Given the description of an element on the screen output the (x, y) to click on. 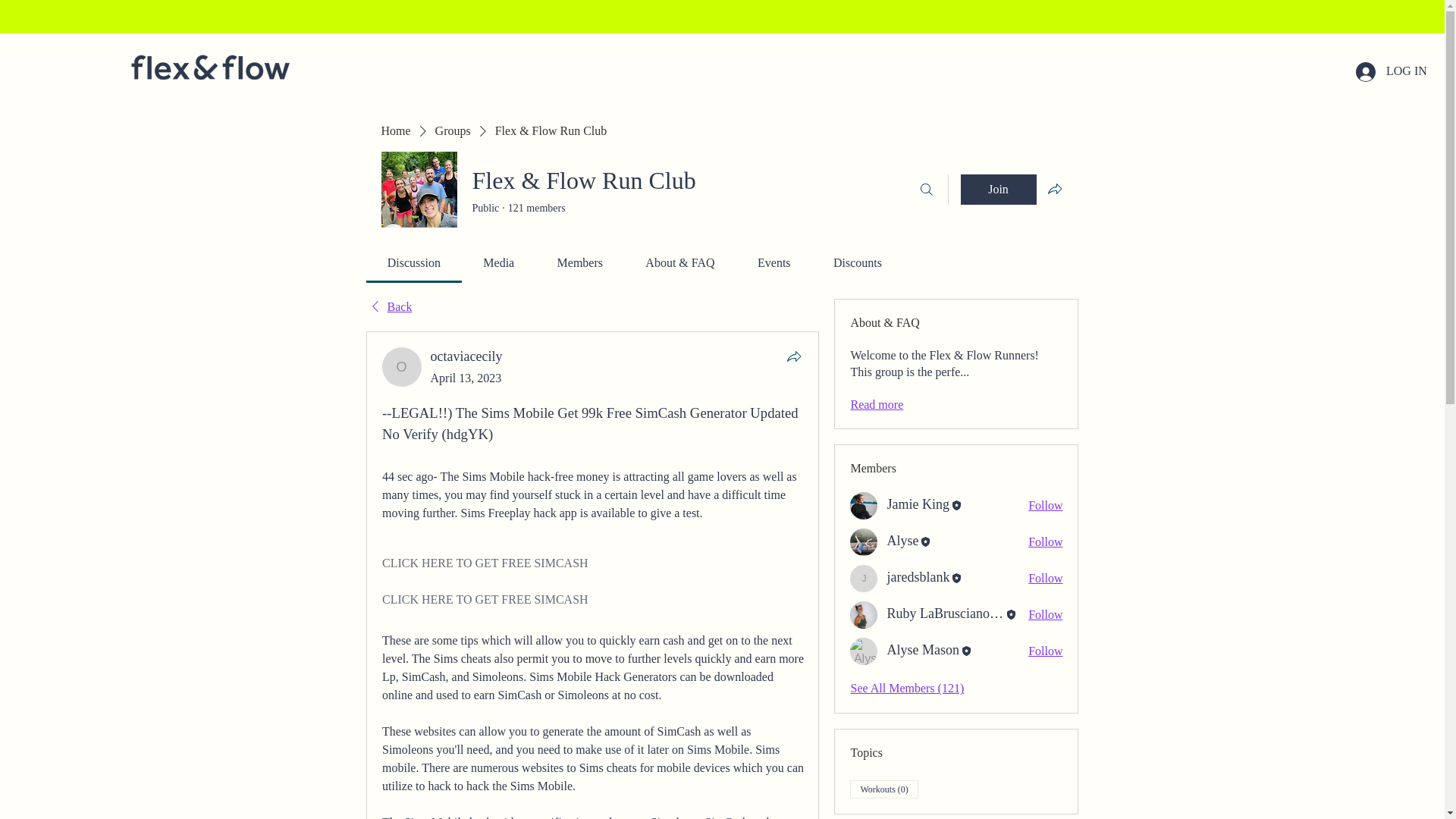
jaredsblank (917, 576)
octaviacecily (466, 355)
Jamie King (917, 504)
Alyse (902, 540)
Alyse Mason (922, 650)
Groups (452, 130)
Alyse Mason (922, 650)
Jamie King (863, 505)
jaredsblank (863, 578)
Ruby LaBrusciano-Carris (945, 613)
